Given the description of an element on the screen output the (x, y) to click on. 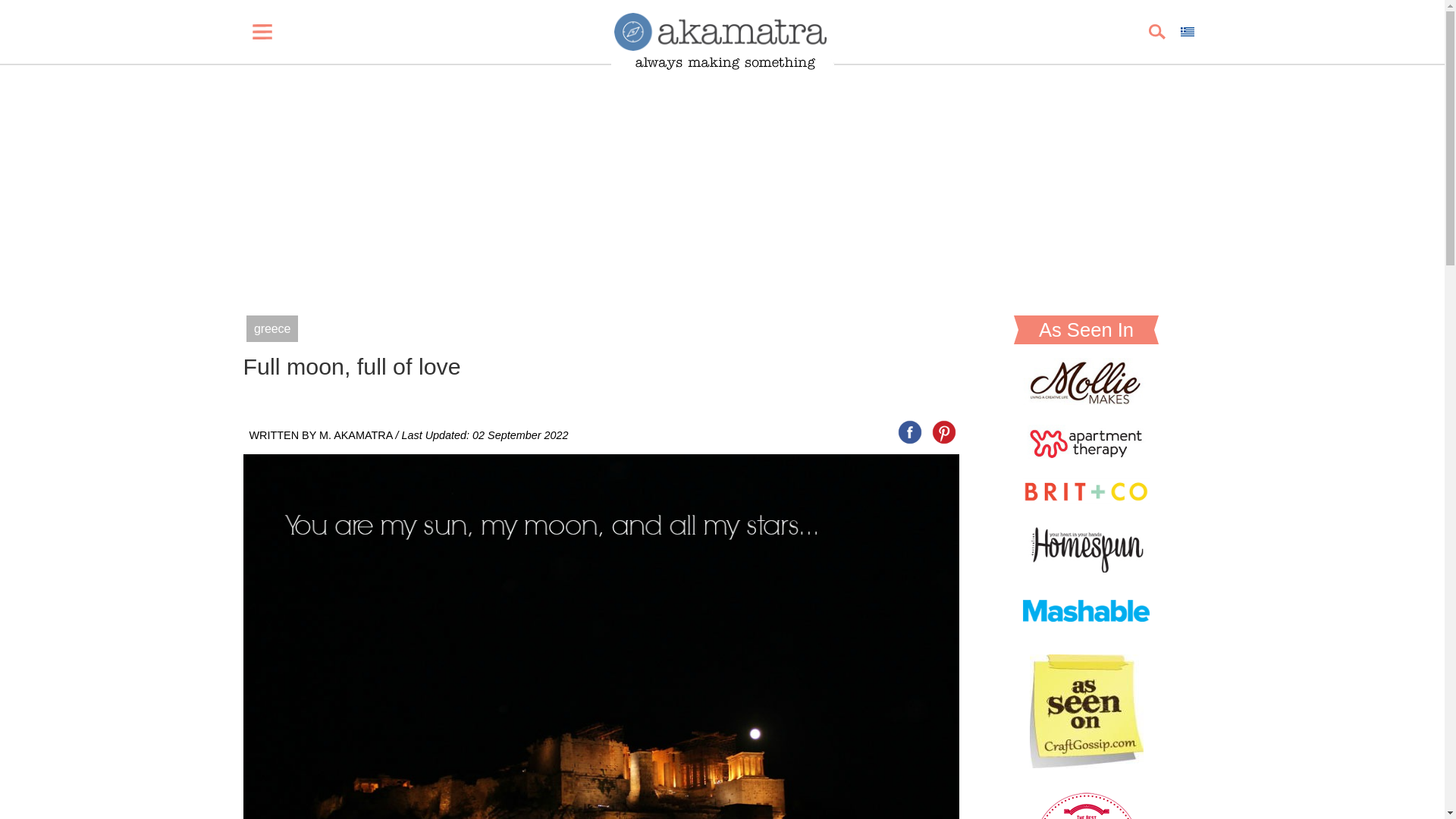
Mollie Makes (1085, 400)
Mashable (1085, 631)
Share on Pinterest (943, 431)
Apartment Therapy (1085, 454)
Share on Facebook (909, 431)
Homespun (1085, 568)
Craft Gossip (1085, 763)
